Given the description of an element on the screen output the (x, y) to click on. 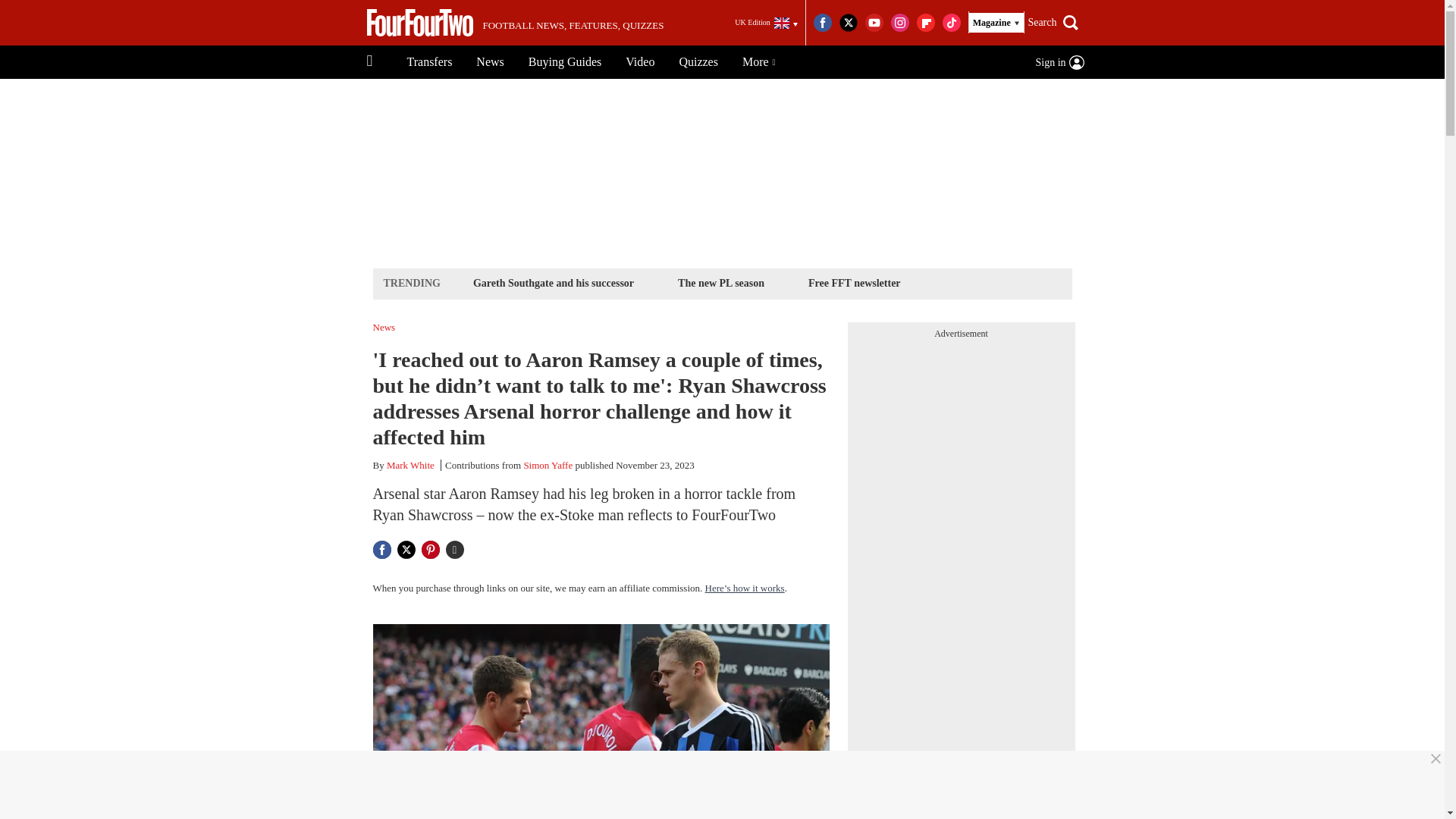
Quizzes (698, 61)
The new PL season (721, 282)
FOOTBALL NEWS, FEATURES, QUIZZES (514, 22)
UK Edition (765, 22)
Video (639, 61)
Transfers (429, 61)
Buying Guides (564, 61)
Simon Yaffe (547, 464)
Free FFT newsletter (854, 282)
Gareth Southgate and his successor (553, 282)
News (489, 61)
